Given the description of an element on the screen output the (x, y) to click on. 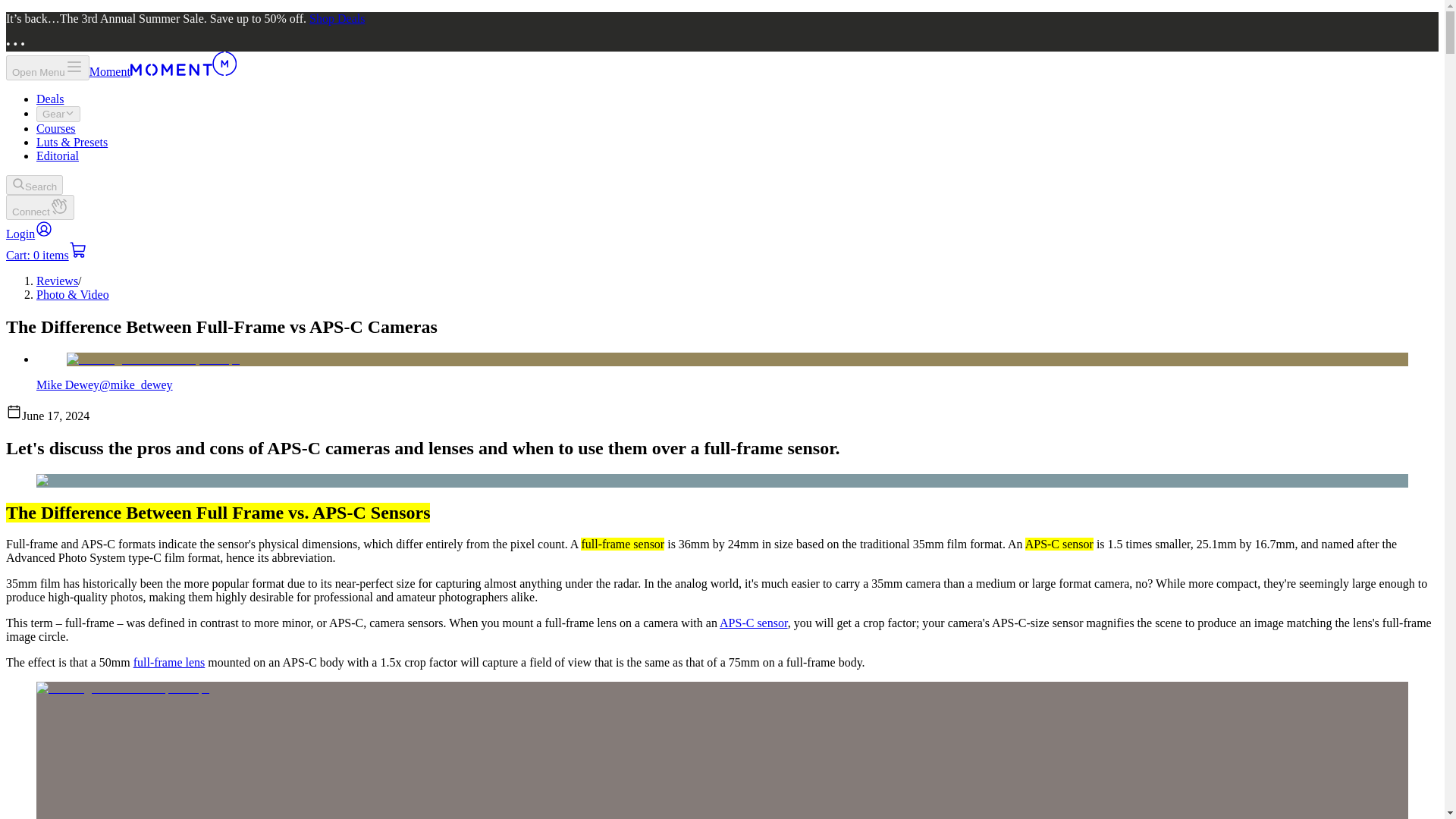
Connect (39, 207)
Login (28, 233)
Courses (55, 128)
Open Menu (46, 67)
Reviews (57, 280)
full-frame lens (169, 662)
Mike Dewey (67, 384)
APS-C sensor (753, 622)
Cart: 0 items (46, 254)
Shop Deals (336, 18)
Editorial (57, 155)
Gear (58, 114)
Moment (161, 71)
Search (33, 184)
Deals (50, 98)
